Given the description of an element on the screen output the (x, y) to click on. 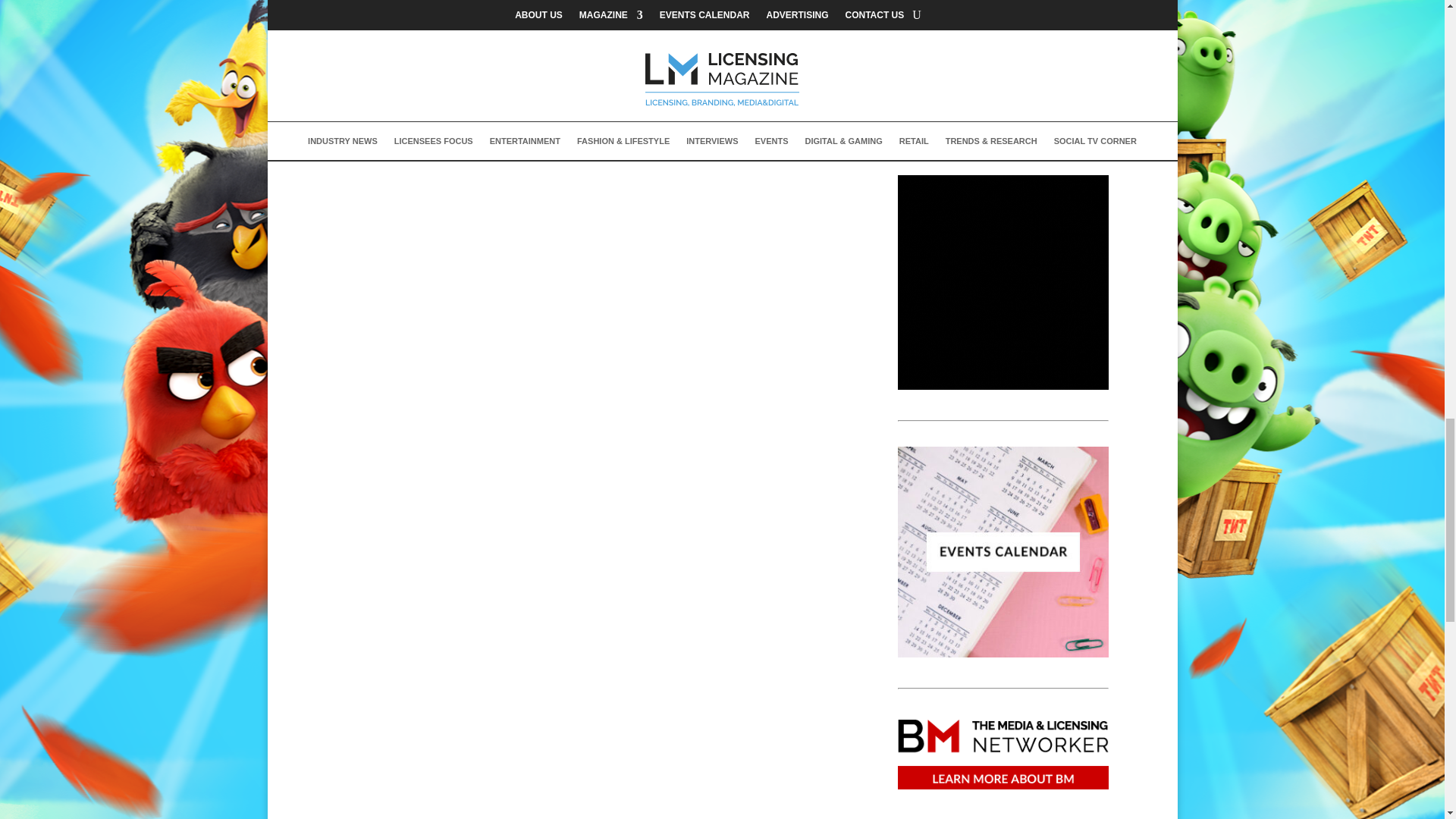
Linkedin (456, 147)
Twitter (398, 147)
Whatsapp (571, 147)
Facebook (341, 147)
Instagram (513, 147)
